Given the description of an element on the screen output the (x, y) to click on. 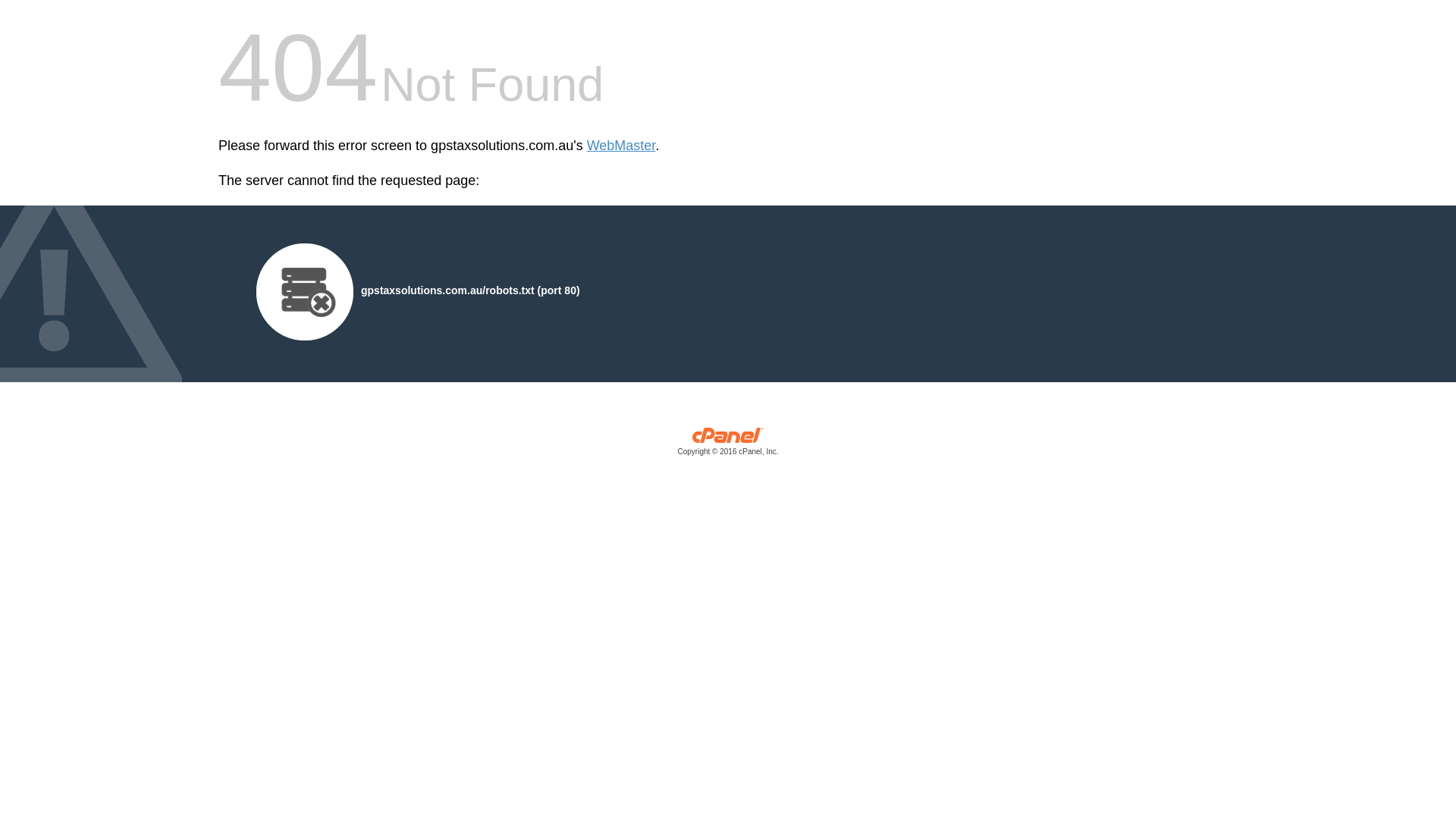
WebMaster Element type: text (620, 145)
